Given the description of an element on the screen output the (x, y) to click on. 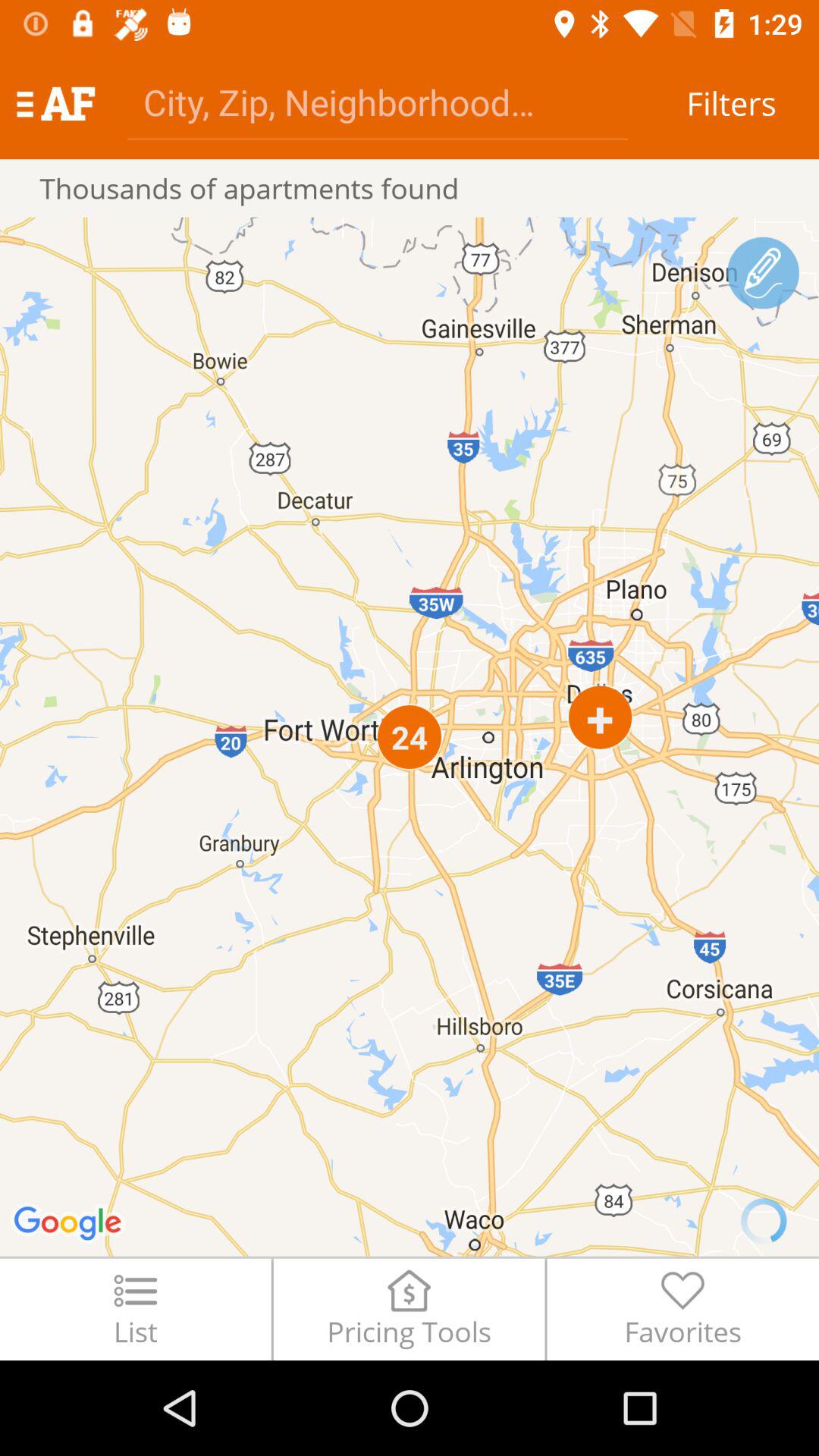
select the icon above thousands of apartments icon (55, 103)
